Given the description of an element on the screen output the (x, y) to click on. 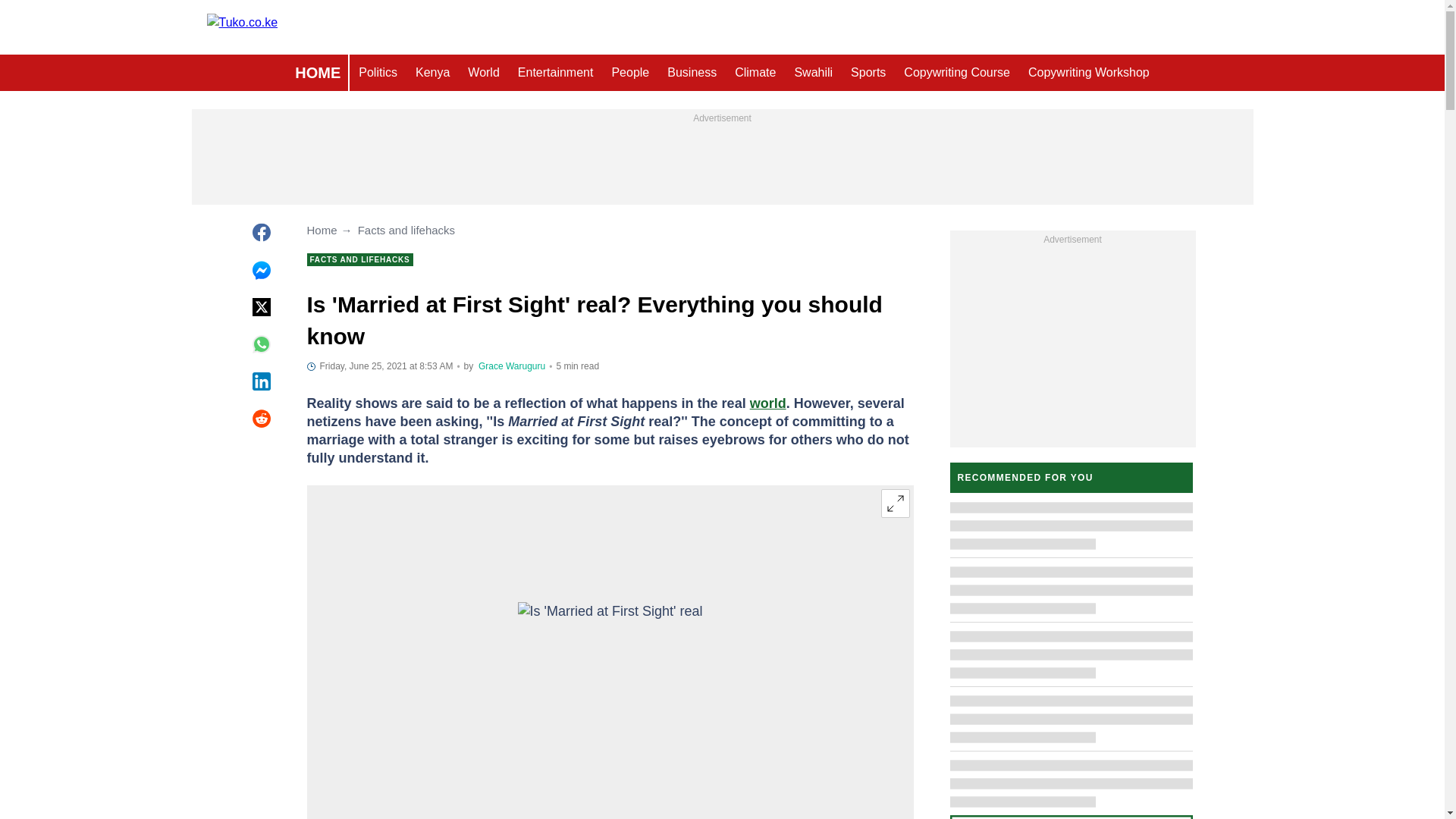
World (483, 72)
Entertainment (555, 72)
Climate (754, 72)
People (630, 72)
Is 'Married at First Sight' real (610, 655)
Kenya (432, 72)
Copywriting Course (957, 72)
Author page (511, 366)
Copywriting Workshop (1088, 72)
HOME (317, 72)
